Given the description of an element on the screen output the (x, y) to click on. 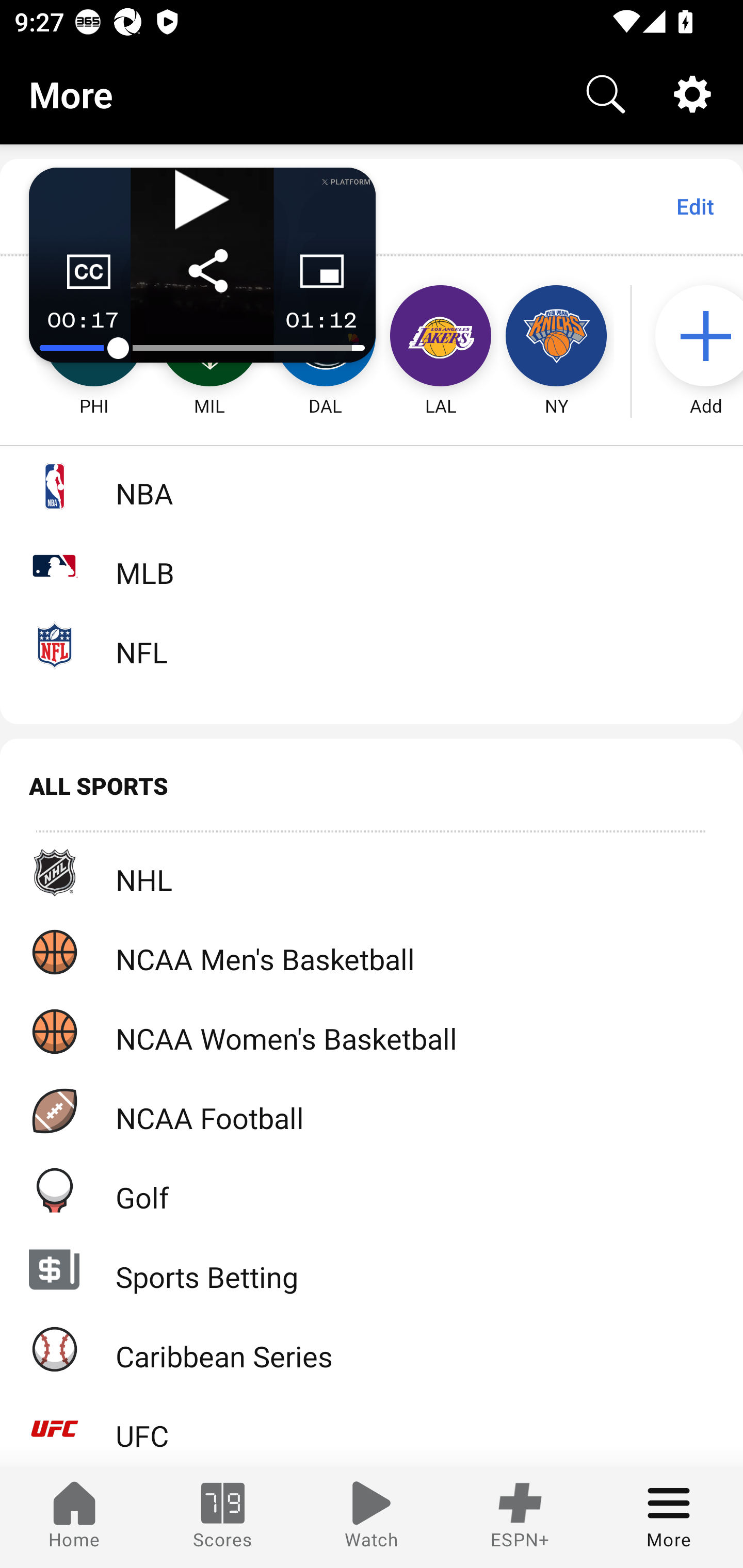
Search (605, 93)
Settings (692, 93)
Edit (695, 205)
LAL Los Angeles Lakers (440, 336)
NY New York Knicks (555, 336)
 Add (695, 336)
NBA (371, 485)
MLB (371, 565)
NFL (371, 645)
NHL (371, 872)
NCAA Men's Basketball (371, 951)
NCAA Women's Basketball (371, 1030)
NCAA Football (371, 1110)
Golf (371, 1189)
Sports Betting (371, 1269)
Caribbean Series (371, 1349)
UFC (371, 1428)
Home (74, 1517)
Scores (222, 1517)
Watch (371, 1517)
ESPN+ (519, 1517)
